Given the description of an element on the screen output the (x, y) to click on. 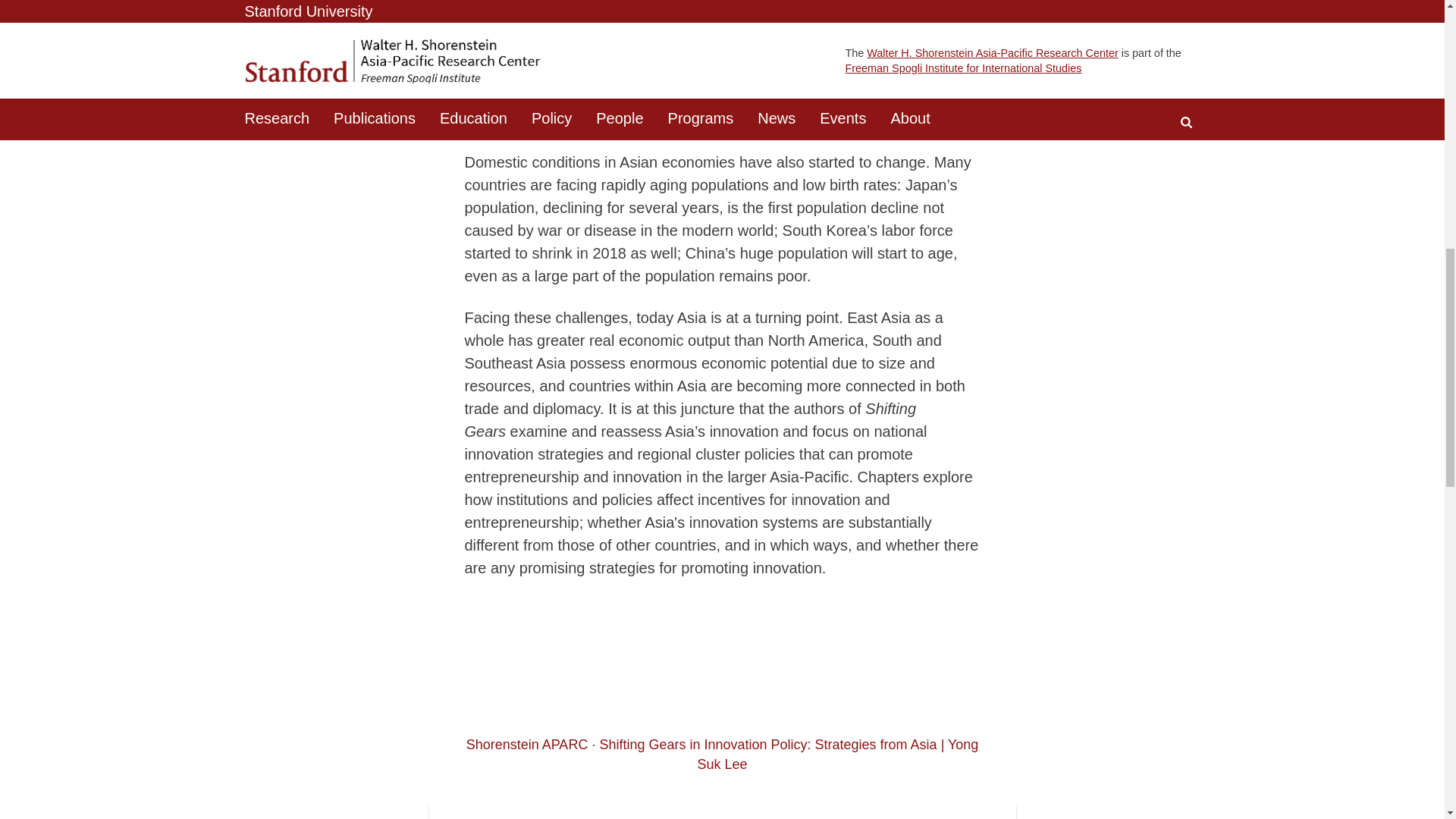
Shorenstein APARC (526, 744)
Shifting Gears in Innovation Policy Audio (721, 672)
